Given the description of an element on the screen output the (x, y) to click on. 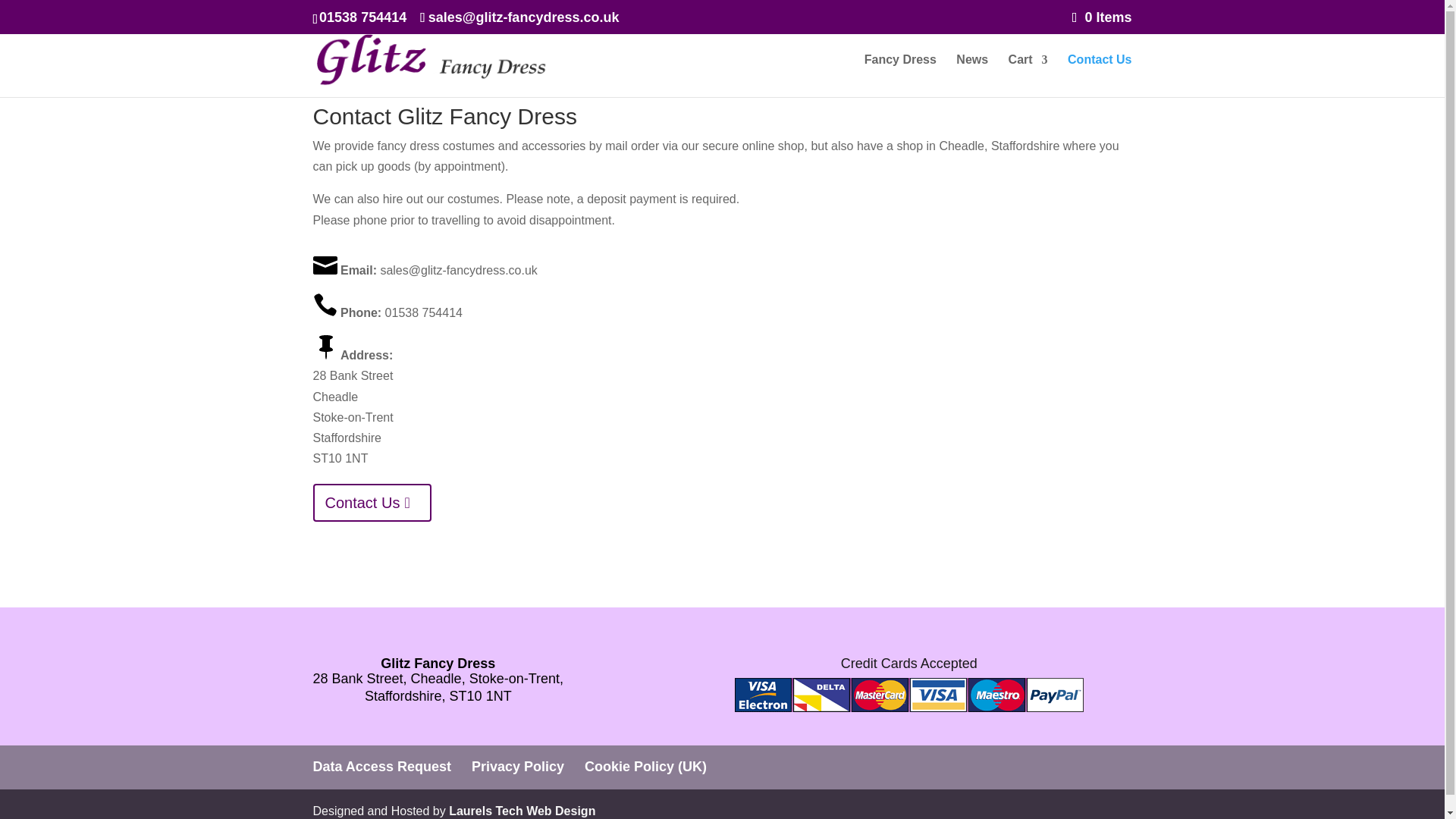
Data Access Request (381, 766)
Laurels Tech Web Design (521, 810)
Cart (1028, 75)
Privacy Policy (517, 766)
Contact Us (371, 502)
0 Items (1101, 16)
Contact Us (1099, 75)
Fancy Dress (900, 75)
